Given the description of an element on the screen output the (x, y) to click on. 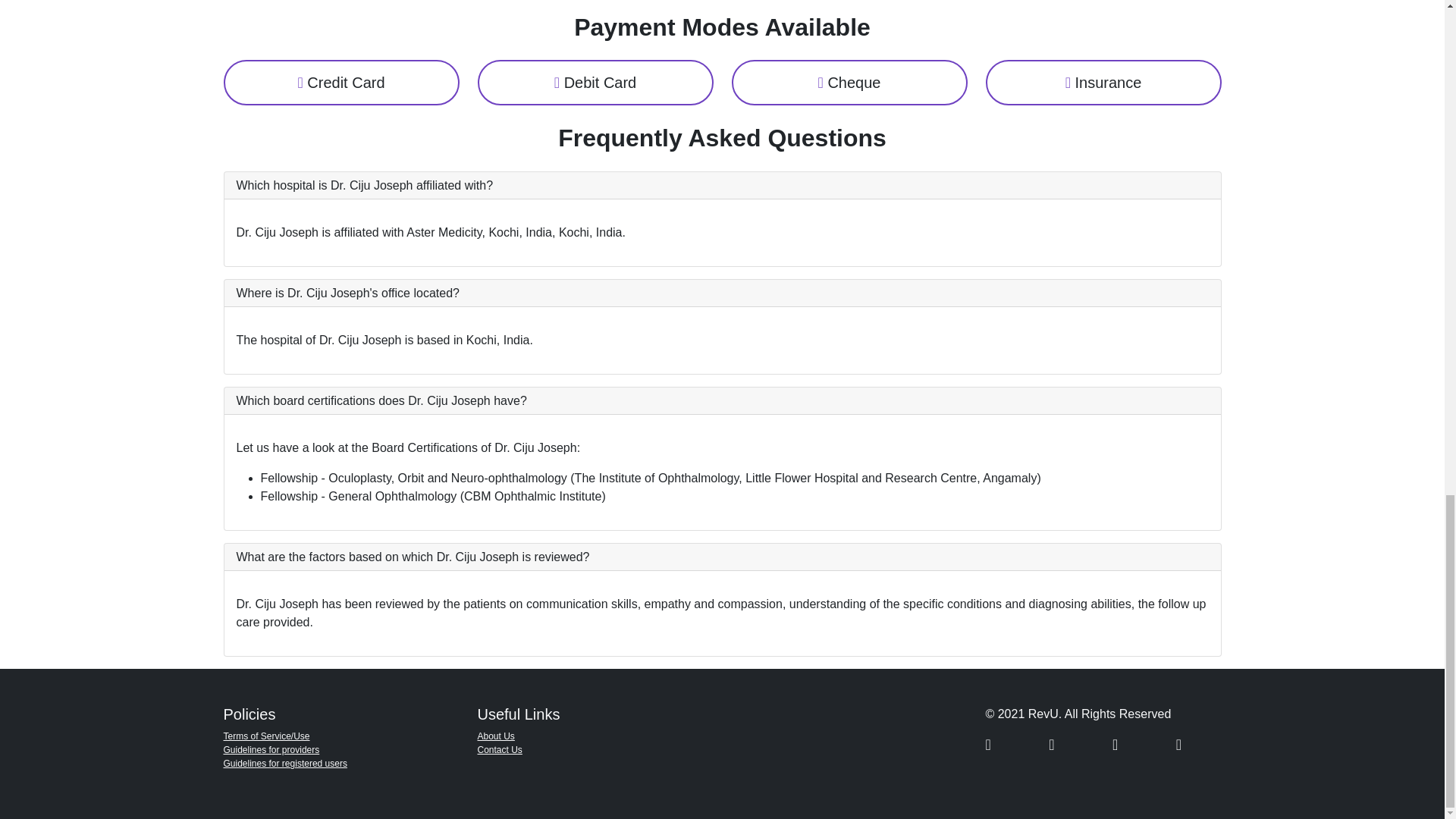
Guidelines for providers (270, 749)
About Us (496, 736)
Contact Us (499, 749)
Guidelines for registered users (284, 763)
